Given the description of an element on the screen output the (x, y) to click on. 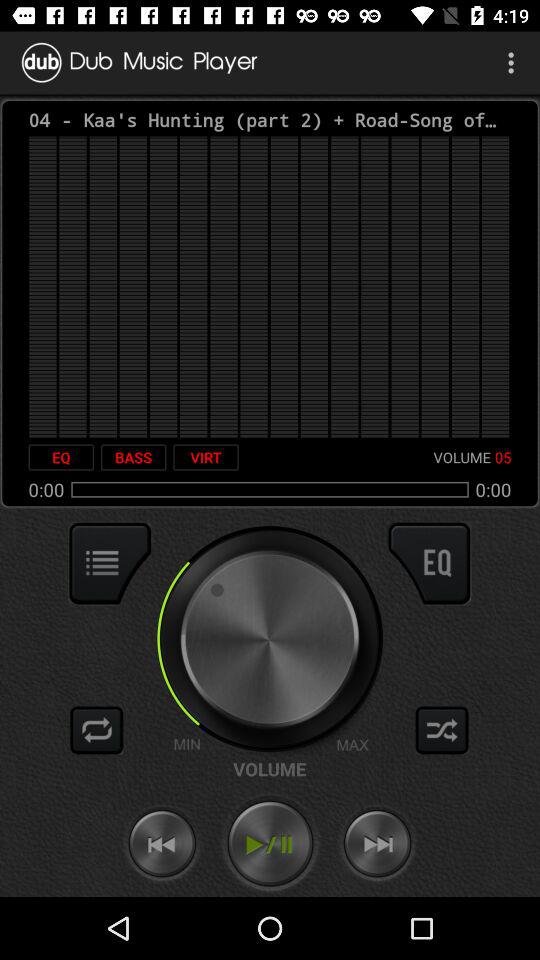
tap icon to the right of  bass  item (205, 457)
